Given the description of an element on the screen output the (x, y) to click on. 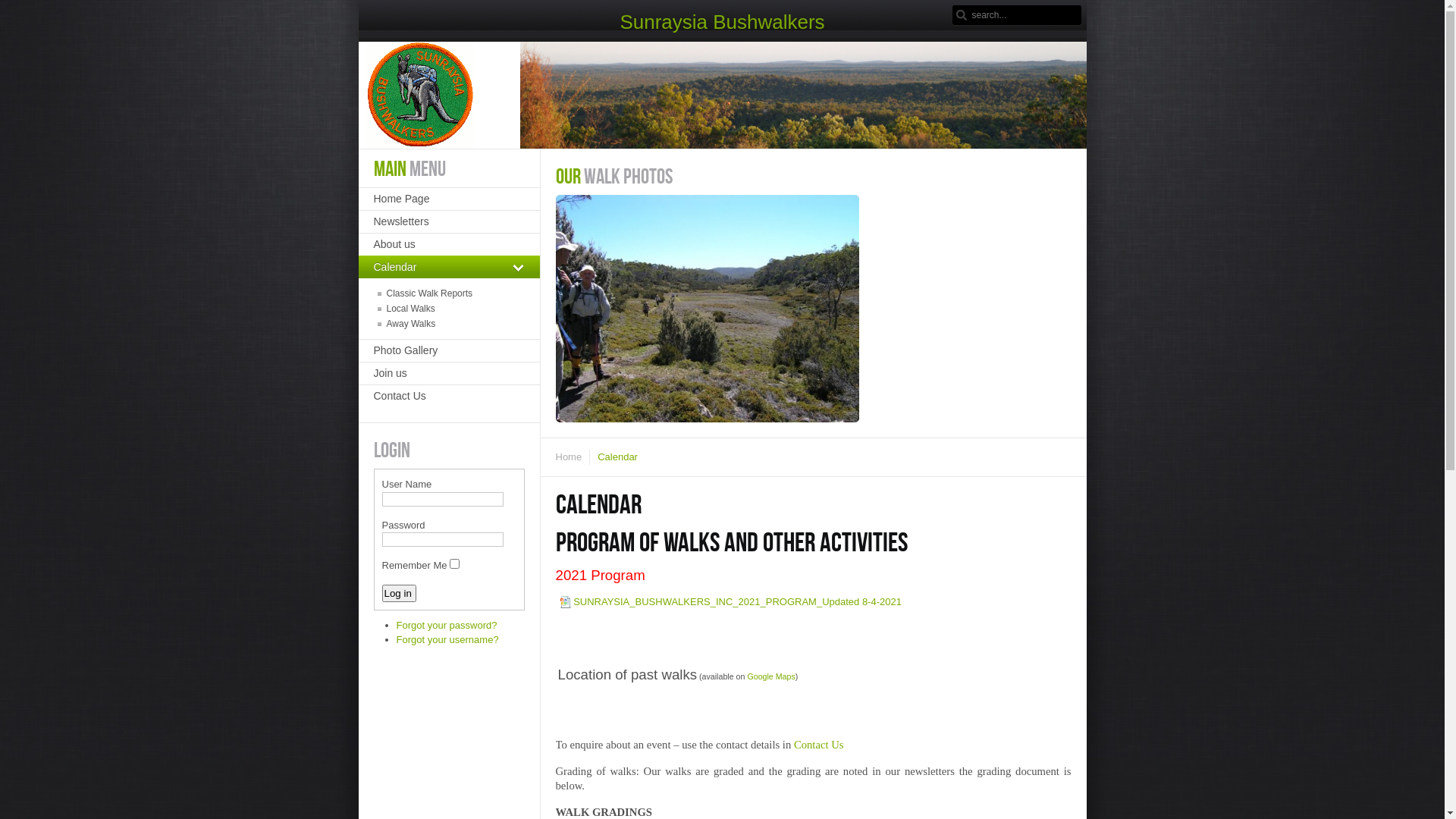
Join us Element type: text (448, 372)
Photo Gallery Element type: text (448, 349)
Reset Element type: text (8, 9)
Contact Us Element type: text (818, 744)
Home Page Element type: text (448, 198)
Google Maps Element type: text (770, 675)
Contact Us Element type: text (448, 395)
PROGRAM OF WALKS AND OTHER ACTIVITIES Element type: text (730, 541)
2021 Program Element type: text (599, 576)
About us Element type: text (448, 243)
SUNRAYSIA_BUSHWALKERS_INC_2021_PROGRAM_Updated 8-4-2021 Element type: text (737, 601)
Calendar Element type: text (448, 266)
Newsletters Element type: text (448, 221)
Search Element type: text (962, 15)
Local Walks Element type: text (448, 308)
Forgot your password? Element type: text (445, 624)
Away Walks Element type: text (448, 323)
Log in Element type: text (399, 592)
2021 Calendar (Revised 12-02-2021) Element type: hover (565, 601)
Home Element type: text (572, 456)
Forgot your username? Element type: text (446, 639)
Classic Walk Reports Element type: text (448, 293)
